Given the description of an element on the screen output the (x, y) to click on. 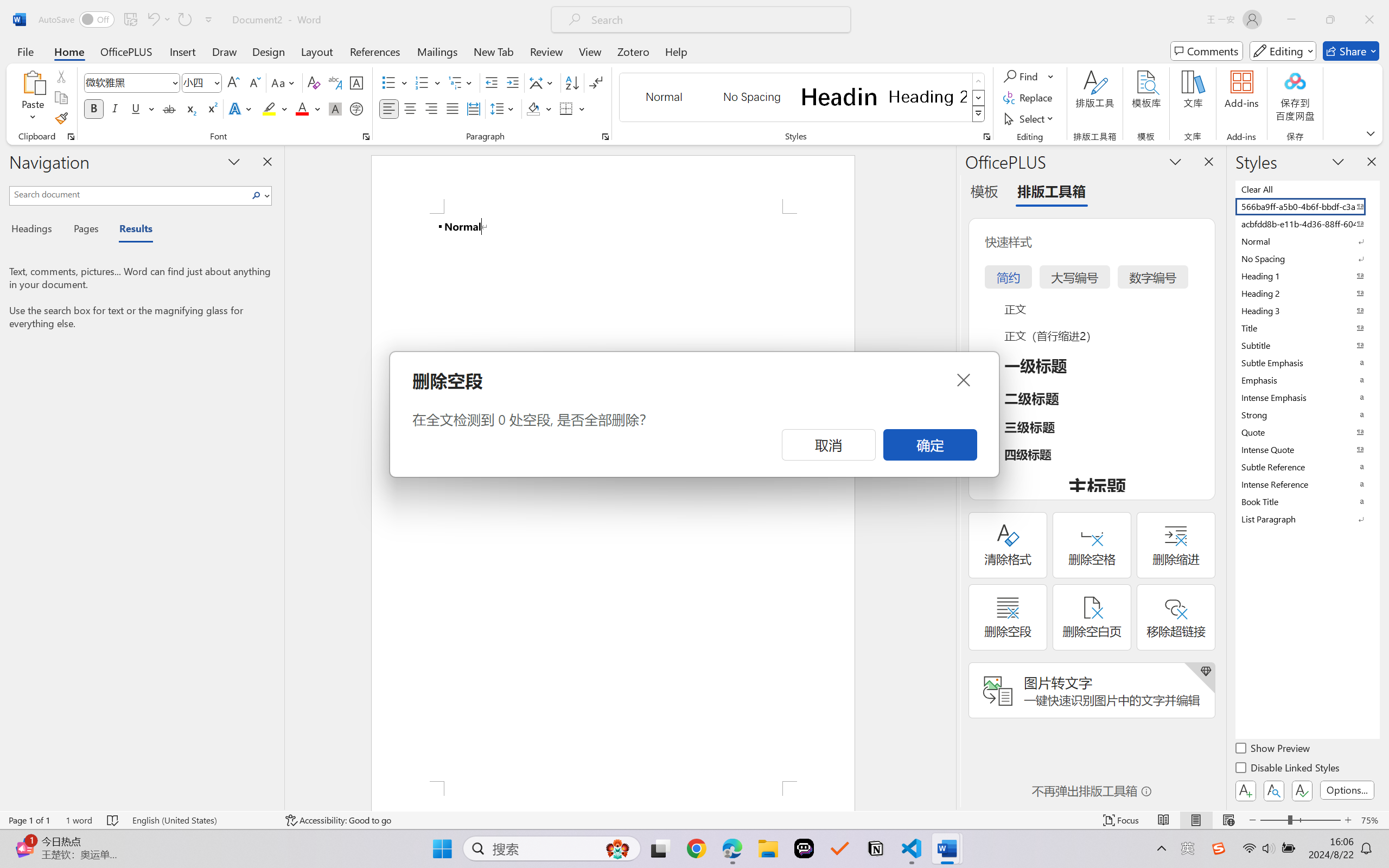
Cut (60, 75)
Distributed (473, 108)
Microsoft search (715, 19)
acbfdd8b-e11b-4d36-88ff-6049b138f862 (1306, 223)
Show Preview (1273, 749)
Heading 2 (927, 96)
List Paragraph (1306, 518)
Change Case (284, 82)
Paragraph... (605, 136)
References (375, 51)
Select (1030, 118)
